Given the description of an element on the screen output the (x, y) to click on. 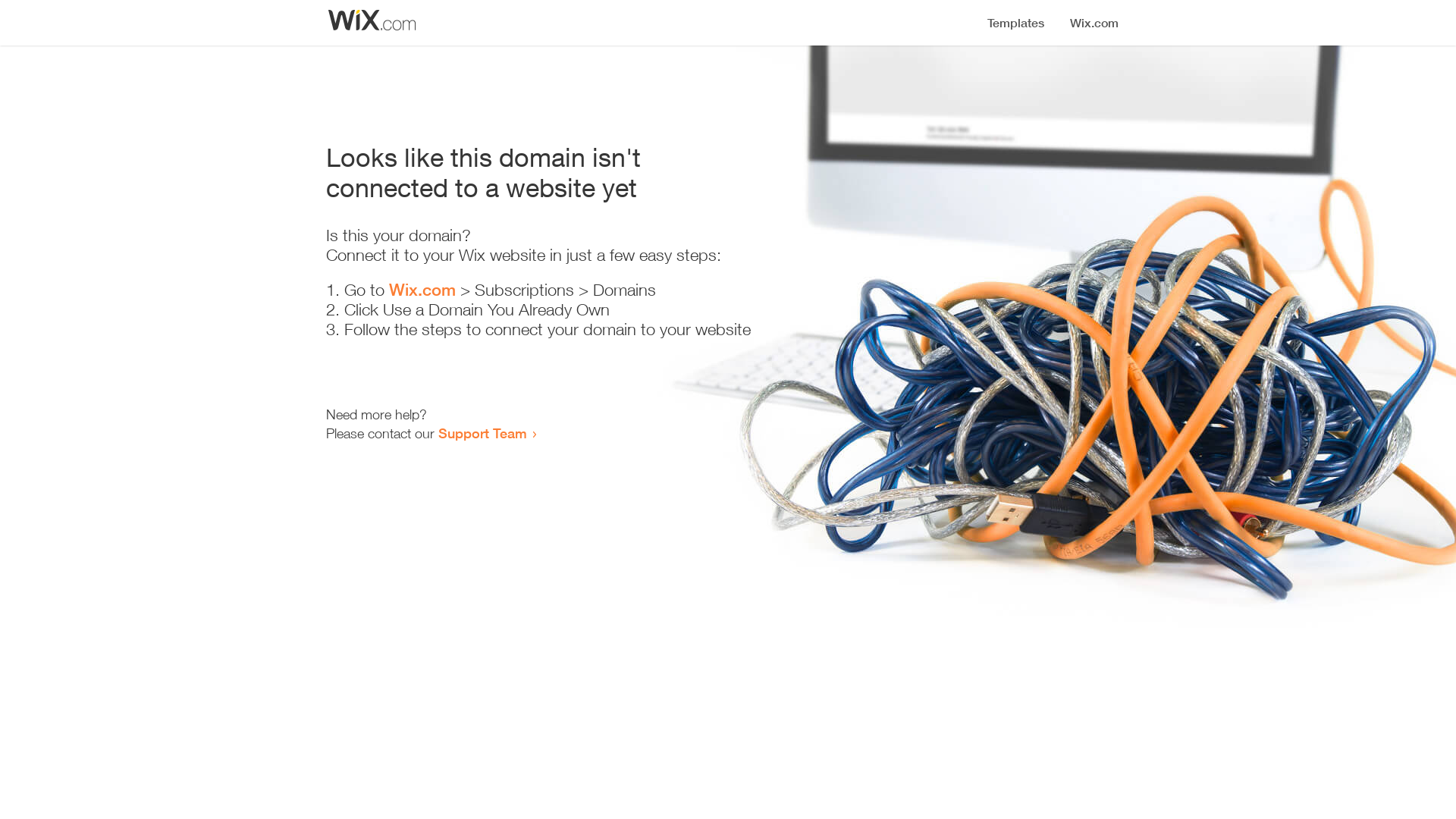
Wix.com Element type: text (422, 289)
Support Team Element type: text (482, 432)
